Given the description of an element on the screen output the (x, y) to click on. 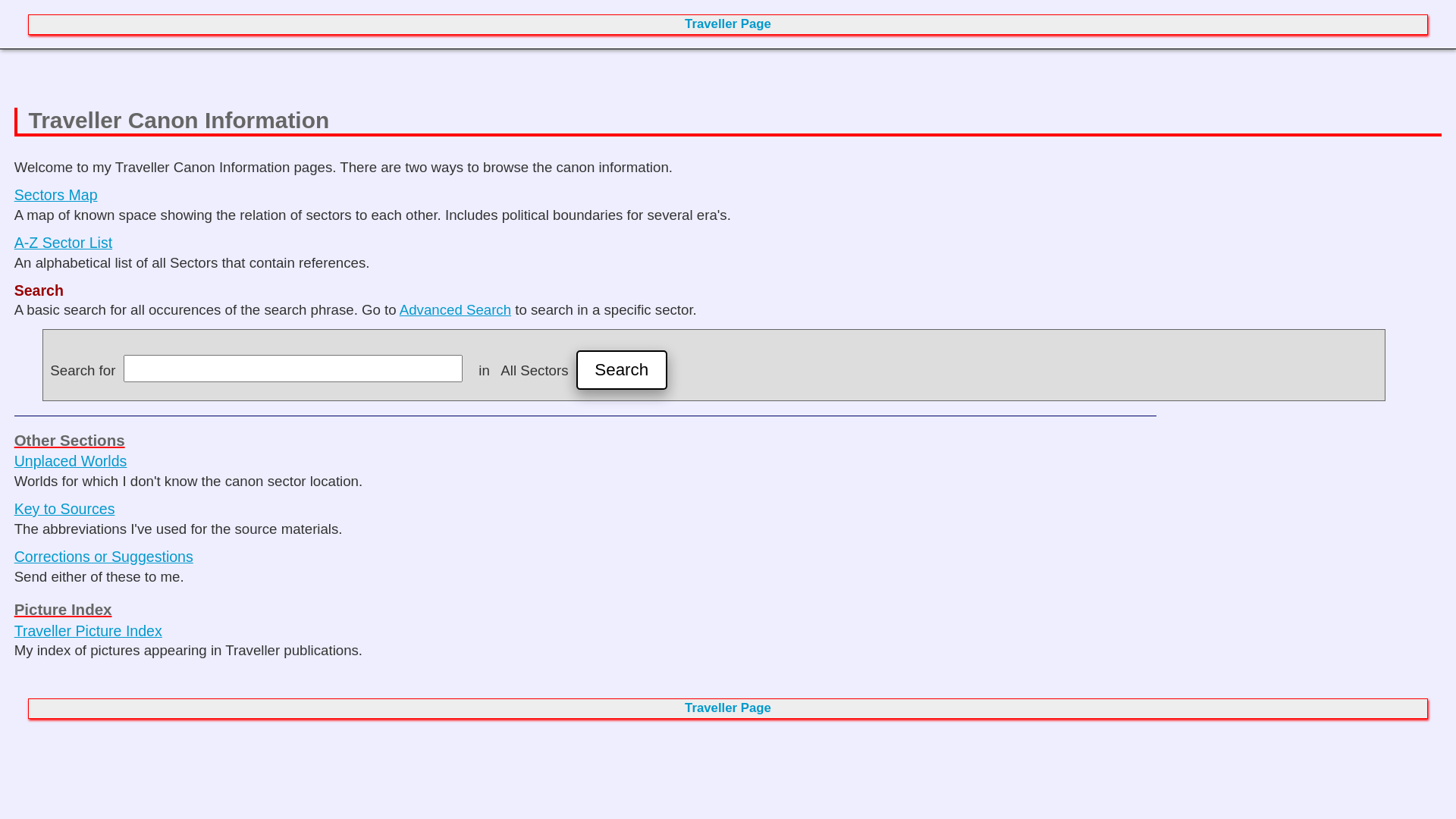
Traveller Picture Index Element type: text (88, 630)
A-Z Sector List Element type: text (63, 242)
Unplaced Worlds Element type: text (70, 460)
Search Element type: text (621, 369)
Corrections or Suggestions Element type: text (103, 556)
Traveller Page Element type: text (727, 23)
Key to Sources Element type: text (64, 508)
Sectors Map Element type: text (55, 194)
Traveller Page Element type: text (727, 707)
Advanced Search Element type: text (455, 309)
